Given the description of an element on the screen output the (x, y) to click on. 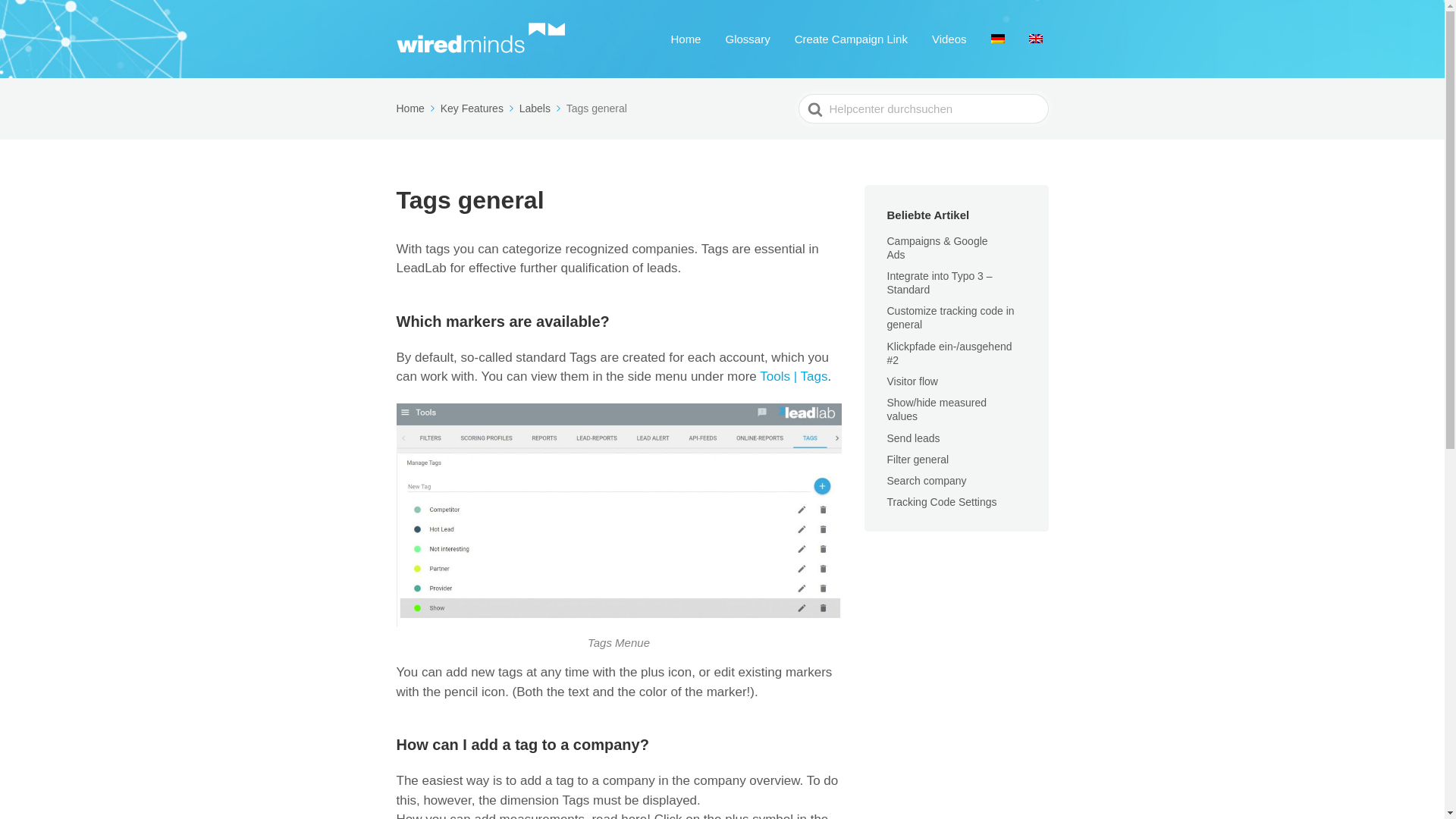
Key Features (478, 108)
Home (416, 108)
Glossary (747, 38)
Filter general (927, 459)
Send leads (922, 438)
Home (684, 38)
Tracking Code Settings (951, 501)
Create Campaign Link (851, 38)
Search company (935, 480)
Customize tracking code in general (950, 317)
